Given the description of an element on the screen output the (x, y) to click on. 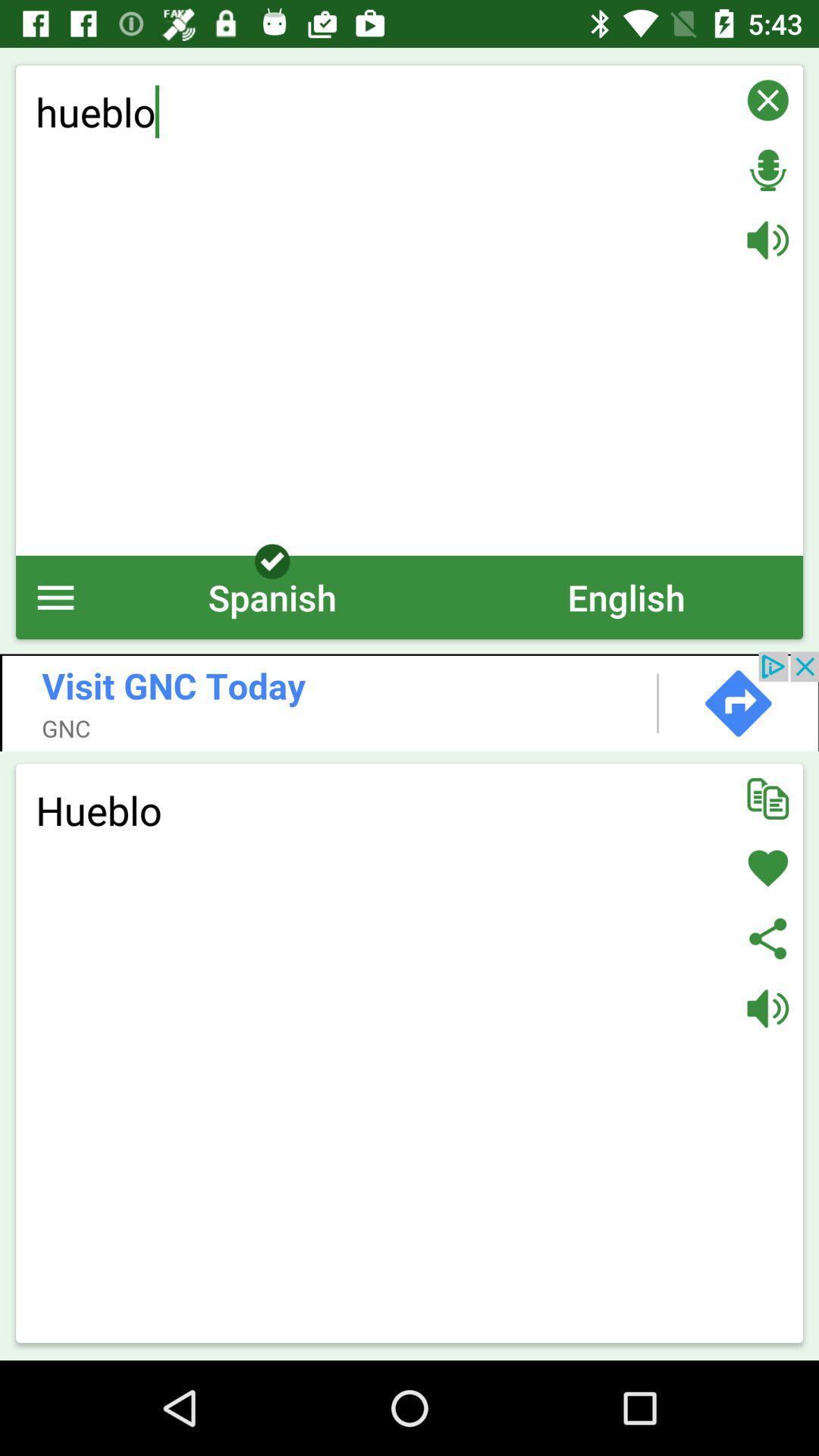
tap the icon to the left of english icon (272, 597)
